Given the description of an element on the screen output the (x, y) to click on. 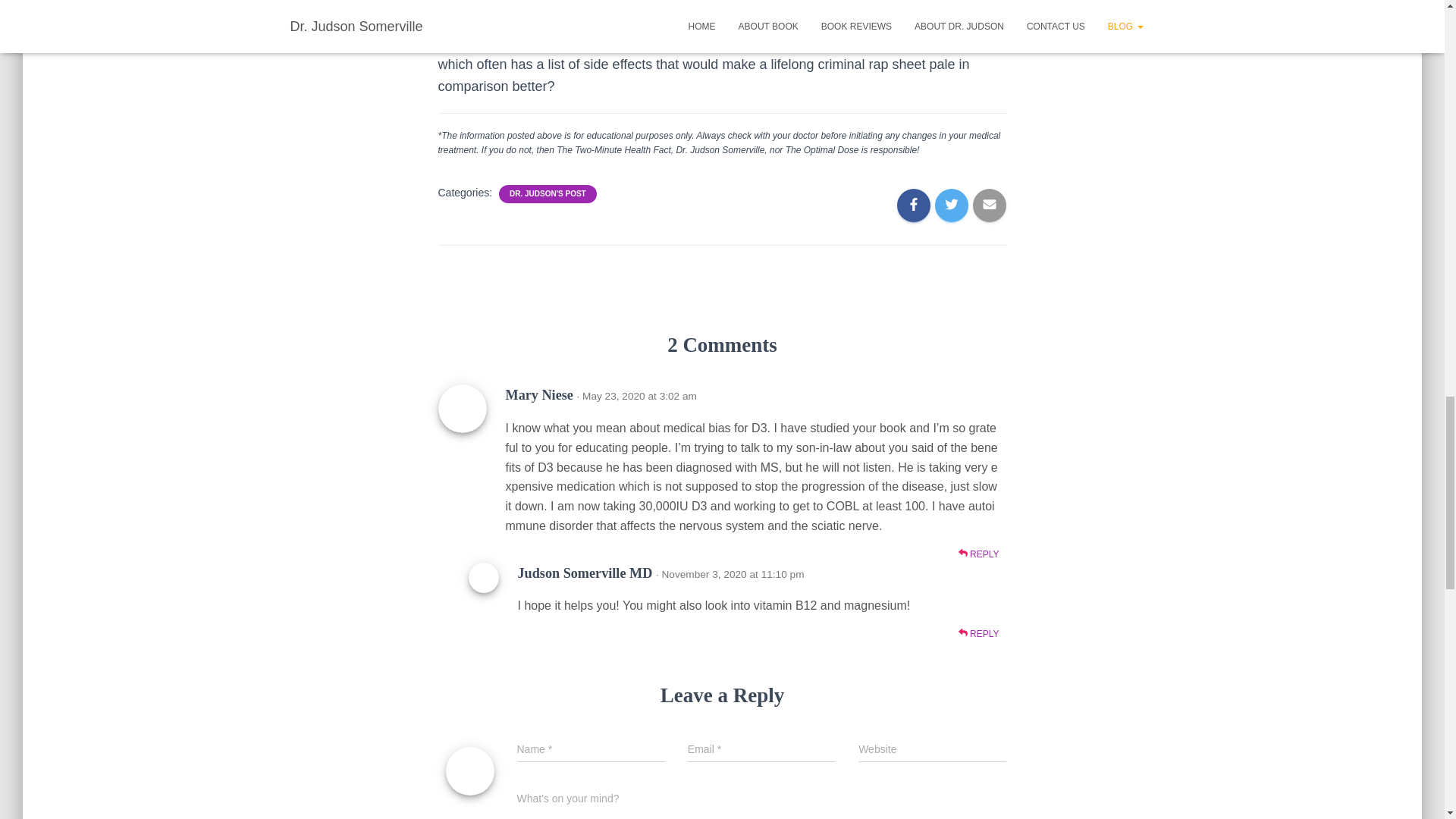
REPLY (978, 554)
DR. JUDSON'S POST (548, 194)
REPLY (978, 634)
